Given the description of an element on the screen output the (x, y) to click on. 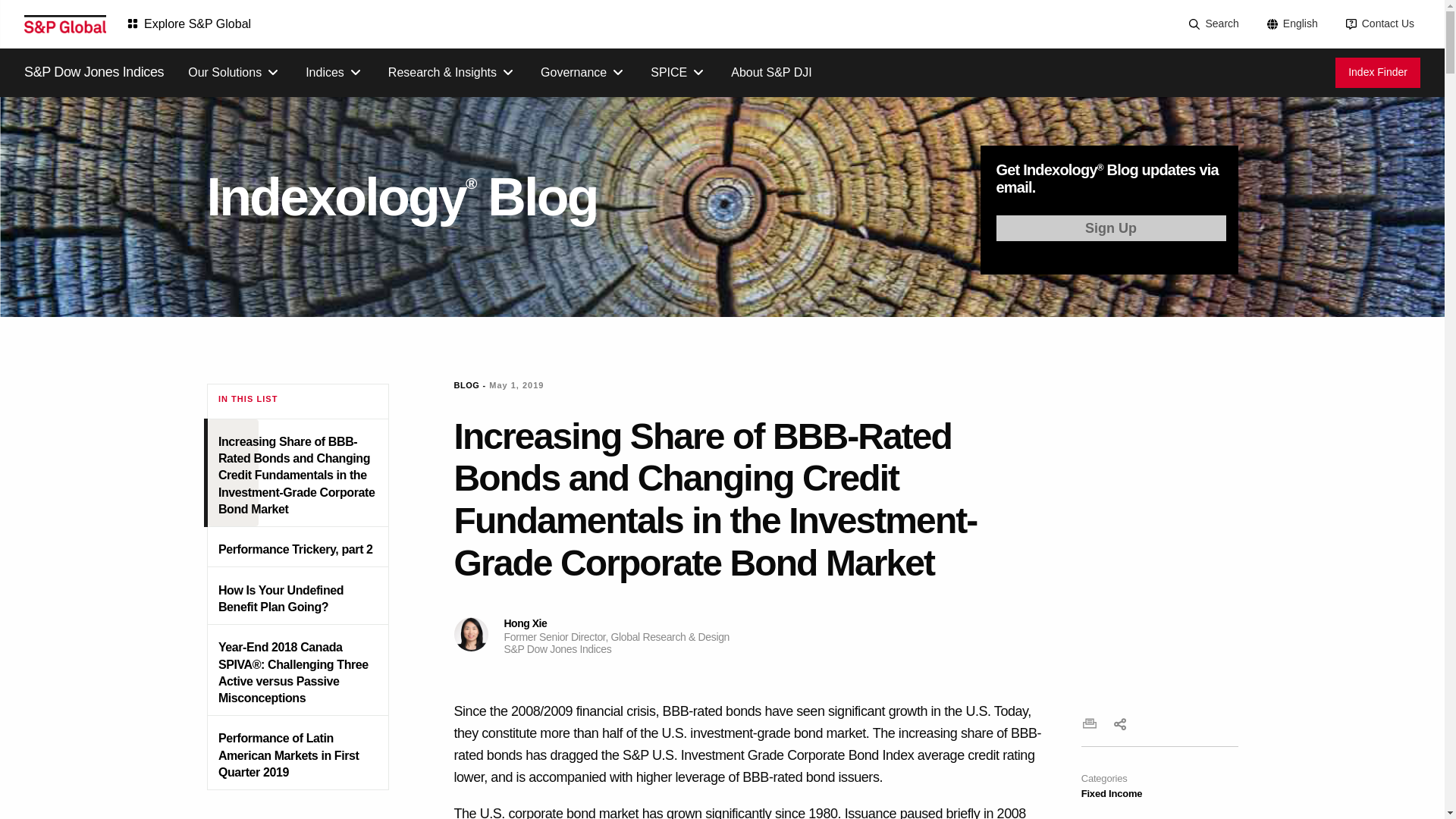
Contact Us (1378, 24)
View all posts in Fixed Income (1111, 793)
English (1290, 24)
Hong Xie (469, 634)
Search (1211, 24)
